Given the description of an element on the screen output the (x, y) to click on. 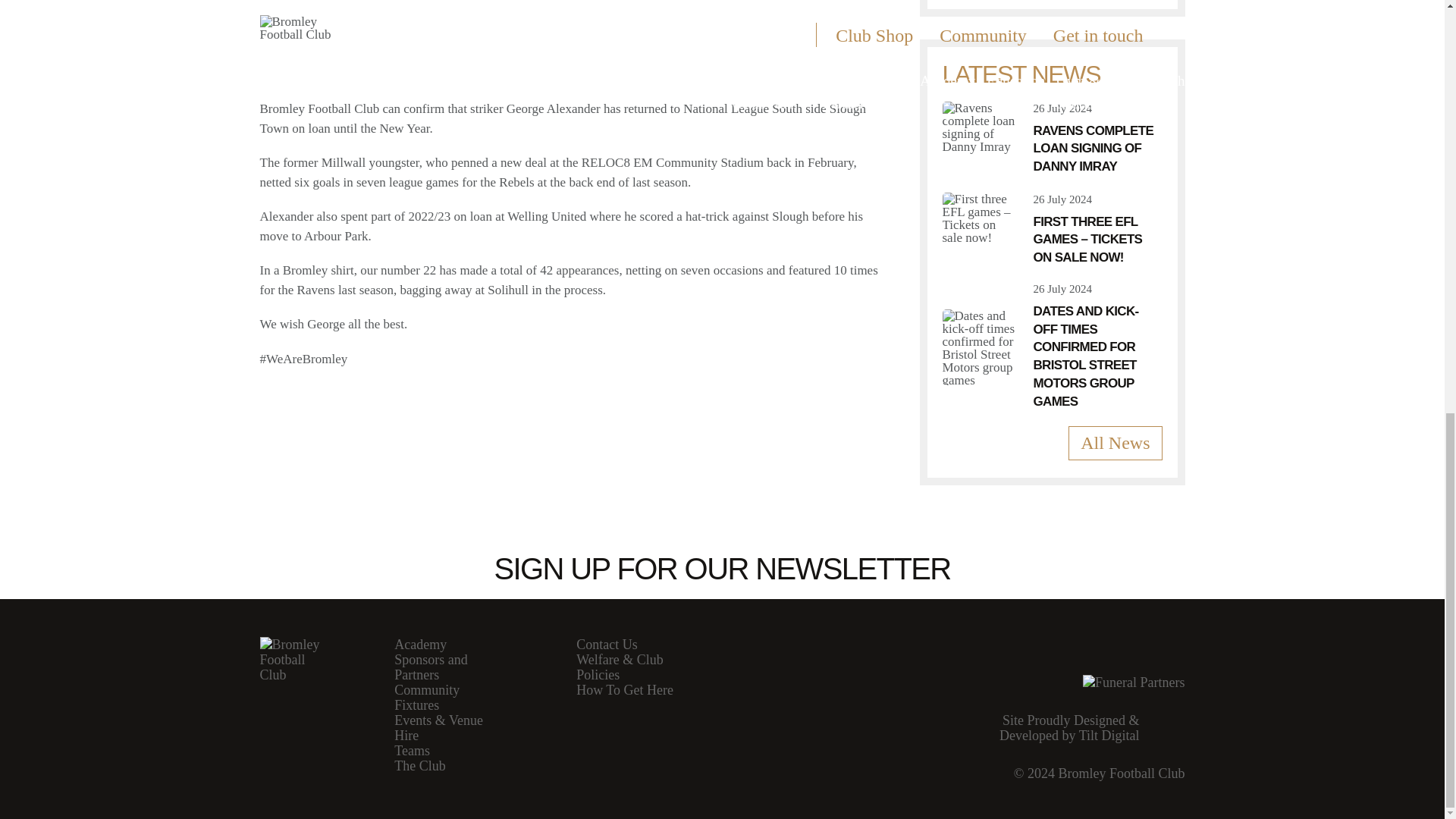
Web Design Kent (1083, 731)
